Given the description of an element on the screen output the (x, y) to click on. 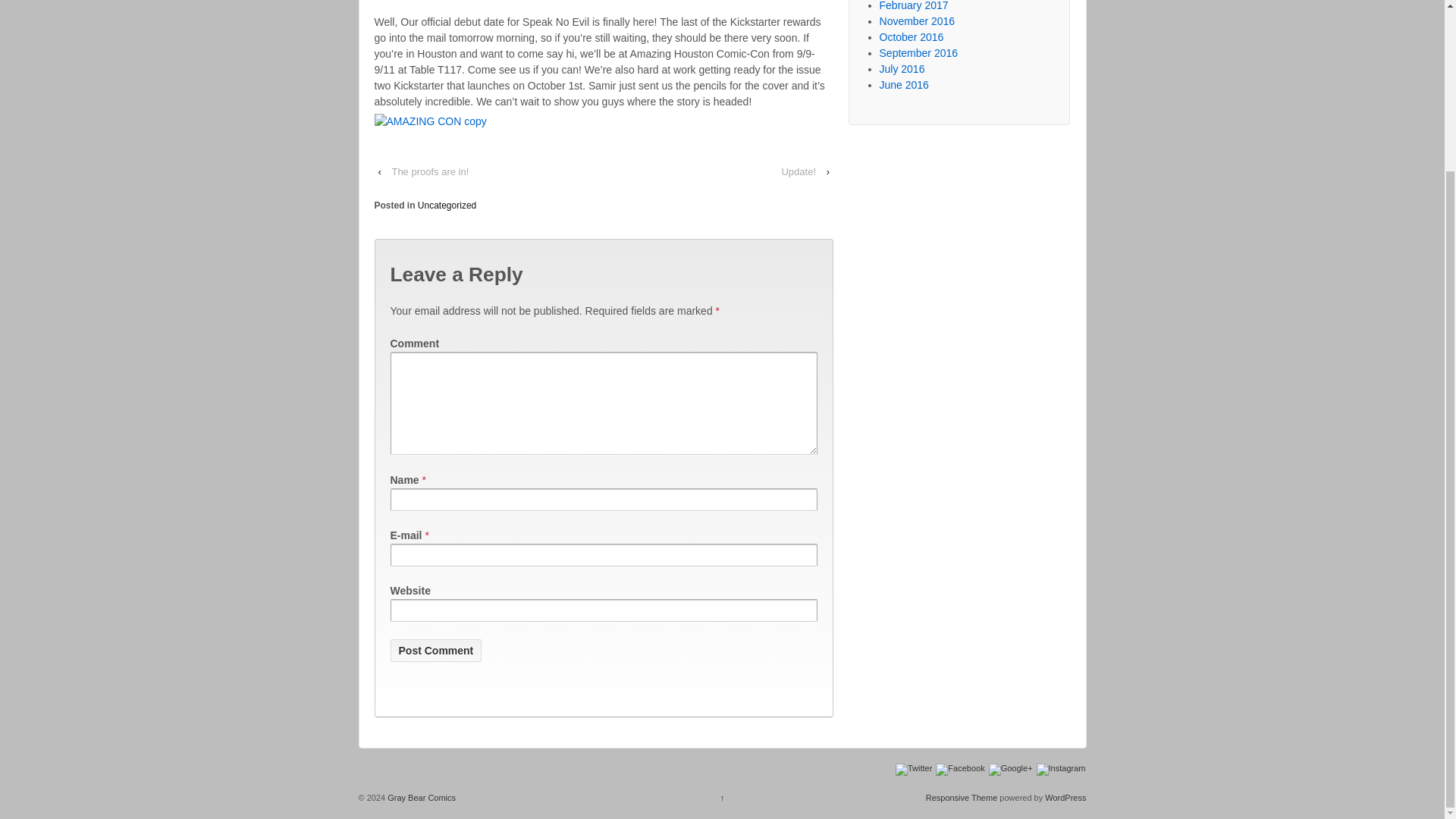
September 2016 (918, 52)
February 2017 (914, 5)
November 2016 (917, 21)
Responsive Theme (961, 797)
Gray Bear Comics (420, 797)
Uncategorized (446, 204)
Responsive Theme (961, 797)
WordPress (1065, 797)
Post Comment (435, 650)
June 2016 (903, 84)
